Given the description of an element on the screen output the (x, y) to click on. 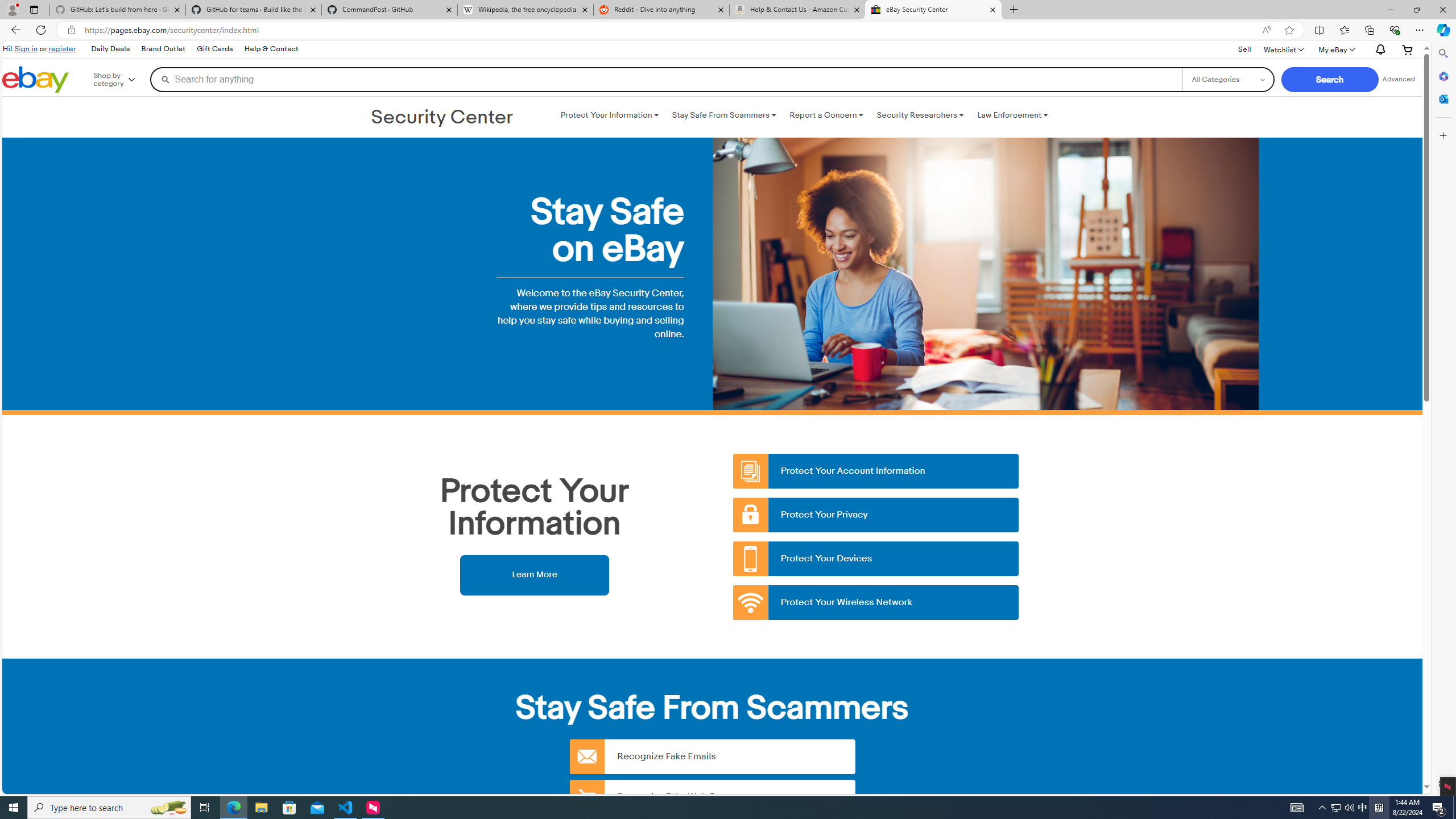
register (61, 48)
Protect Your Privacy (876, 514)
My eBayExpand My eBay (1335, 49)
Help & Contact (271, 49)
eBay Home (35, 79)
WatchlistExpand Watch List (1282, 49)
Gift Cards (214, 49)
